Given the description of an element on the screen output the (x, y) to click on. 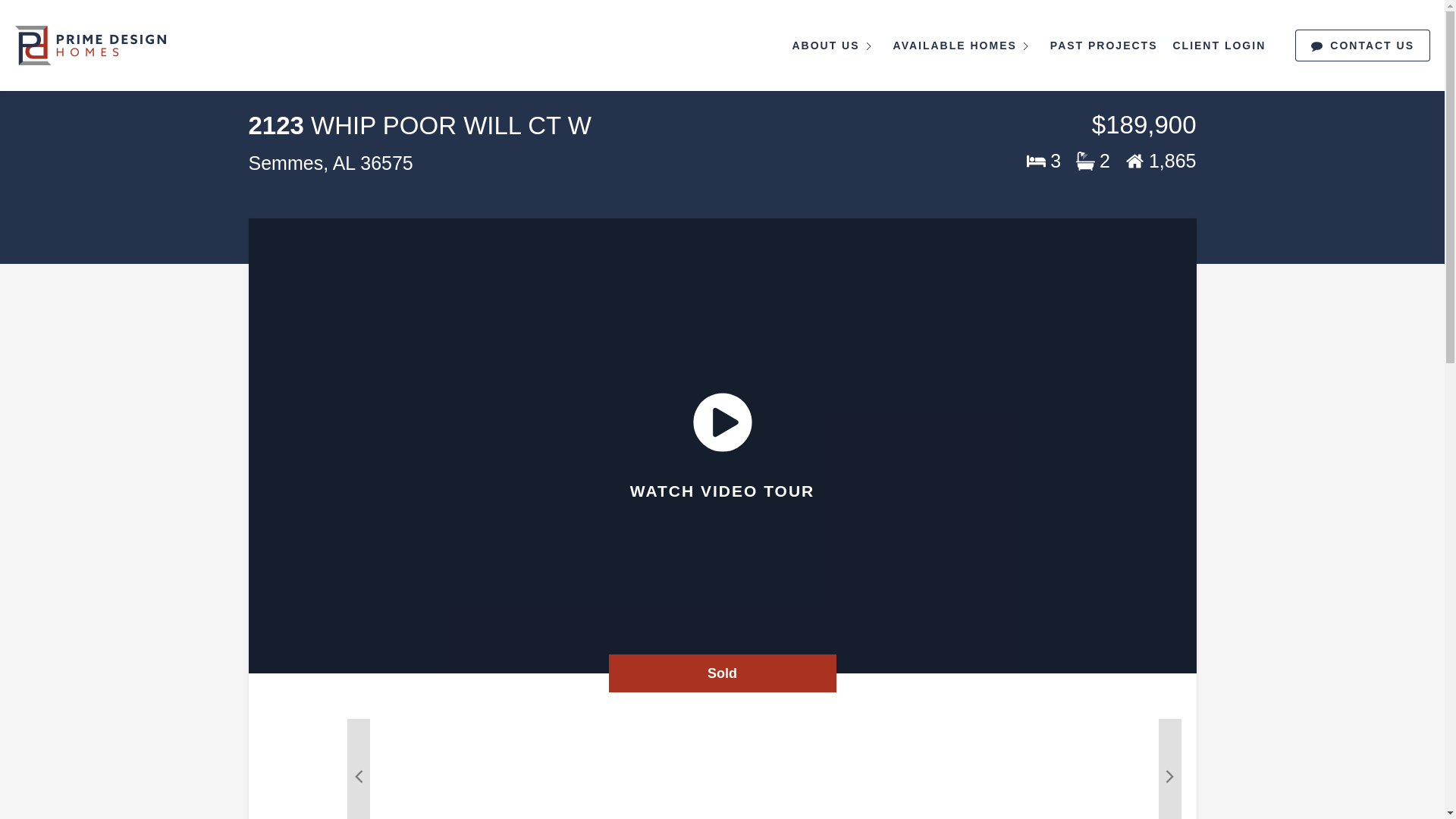
AVAILABLE HOMES (963, 45)
CONTACT US (1362, 45)
PAST PROJECTS (1104, 45)
ABOUT US (834, 45)
CLIENT LOGIN (1218, 45)
